Given the description of an element on the screen output the (x, y) to click on. 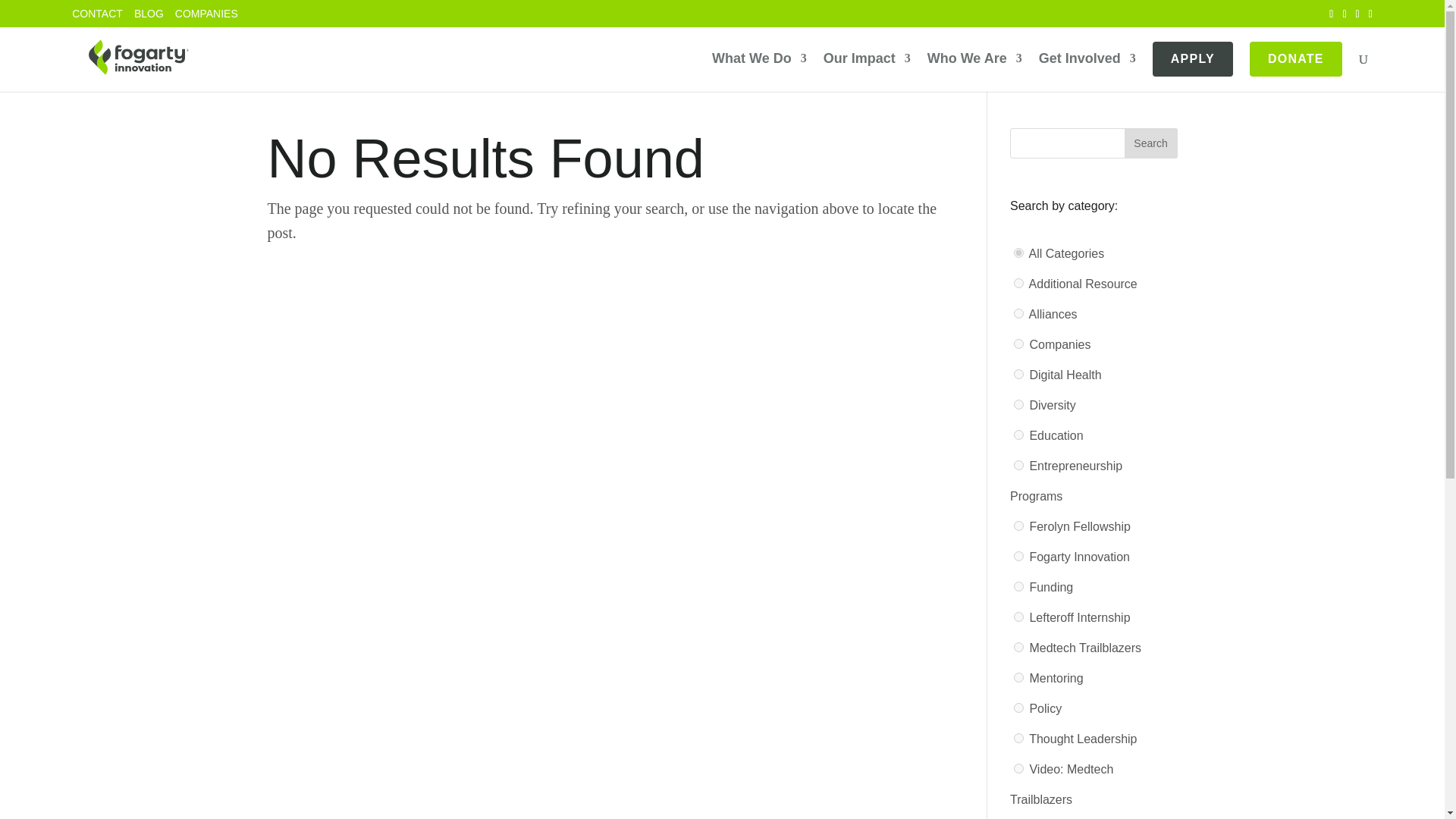
77 (1018, 737)
Search (1150, 142)
79 (1018, 313)
86 (1018, 707)
Search (1150, 142)
10 (1018, 556)
85 (1018, 616)
14 (1018, 525)
Get Involved (1087, 64)
Who We Are (974, 64)
